Given the description of an element on the screen output the (x, y) to click on. 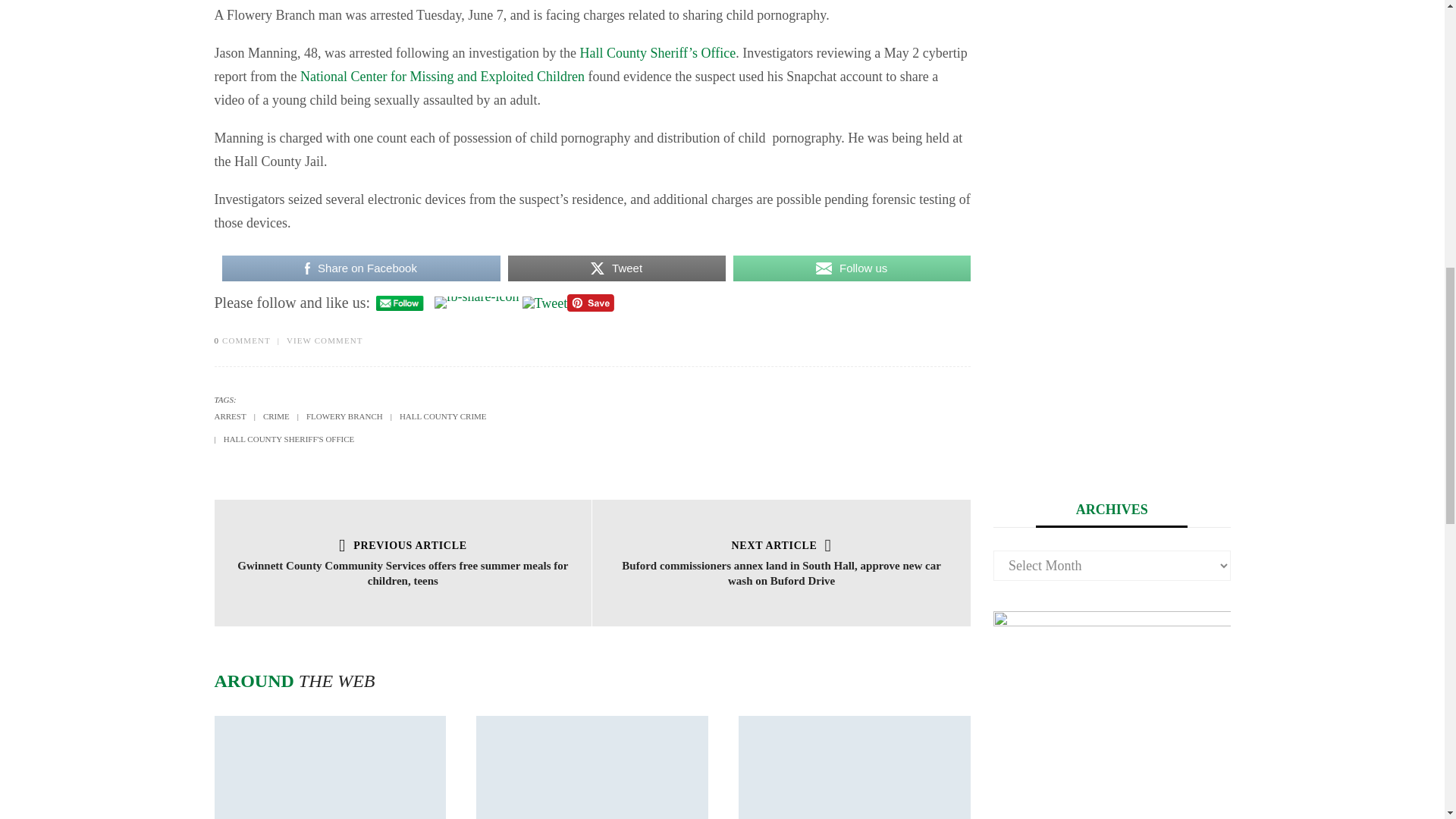
National Center for Missing and Exploited Children (442, 76)
Follow us (852, 267)
Tweet (616, 267)
Tweet (544, 303)
Share on Facebook (360, 267)
Facebook Share (476, 302)
